Given the description of an element on the screen output the (x, y) to click on. 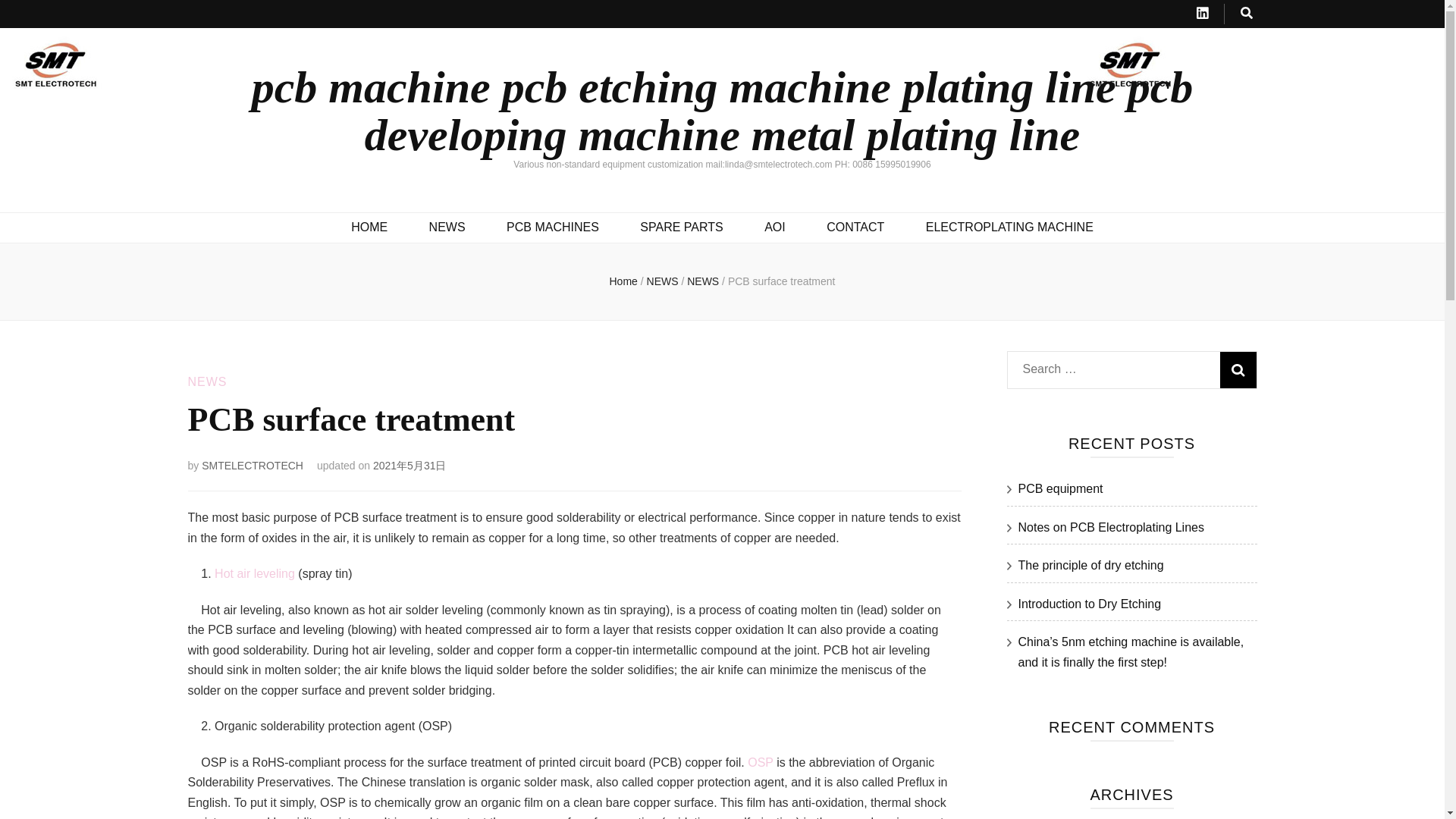
The principle of dry etching (1090, 564)
HOME (368, 227)
PCB MACHINES (552, 227)
Hot air leveling (254, 573)
CONTACT (855, 227)
Search (1237, 370)
NEWS (447, 227)
NEWS (207, 381)
ELECTROPLATING MACHINE (1009, 227)
